Given the description of an element on the screen output the (x, y) to click on. 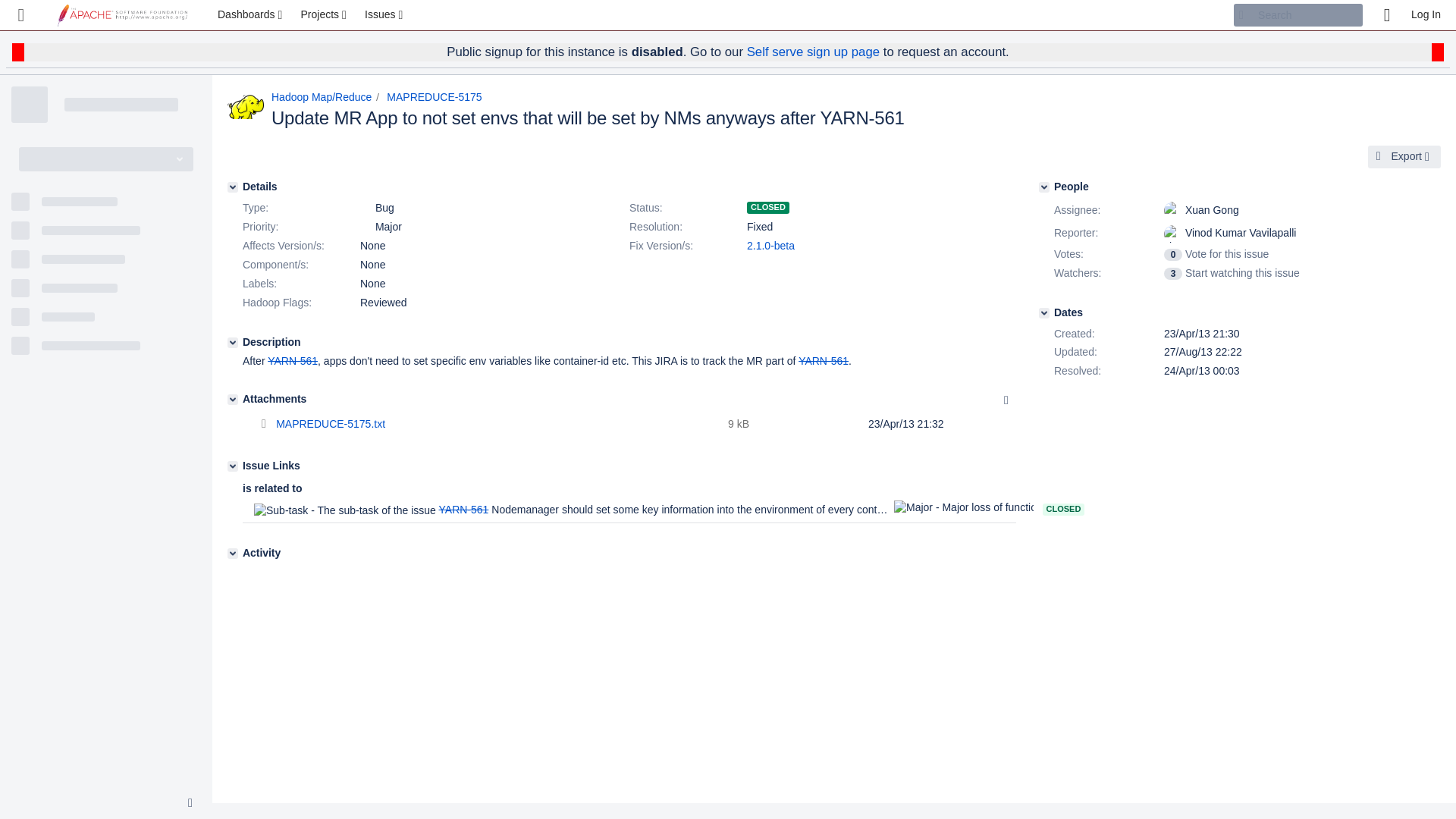
Log In (1425, 15)
Help (1386, 15)
Type (299, 208)
MAPREDUCE-5175.txt (330, 423)
View recent projects and browse a list of projects (324, 15)
Issues (384, 15)
2.1.0-beta (770, 245)
Export (1404, 156)
YARN-561 (822, 360)
Projects (324, 15)
